Given the description of an element on the screen output the (x, y) to click on. 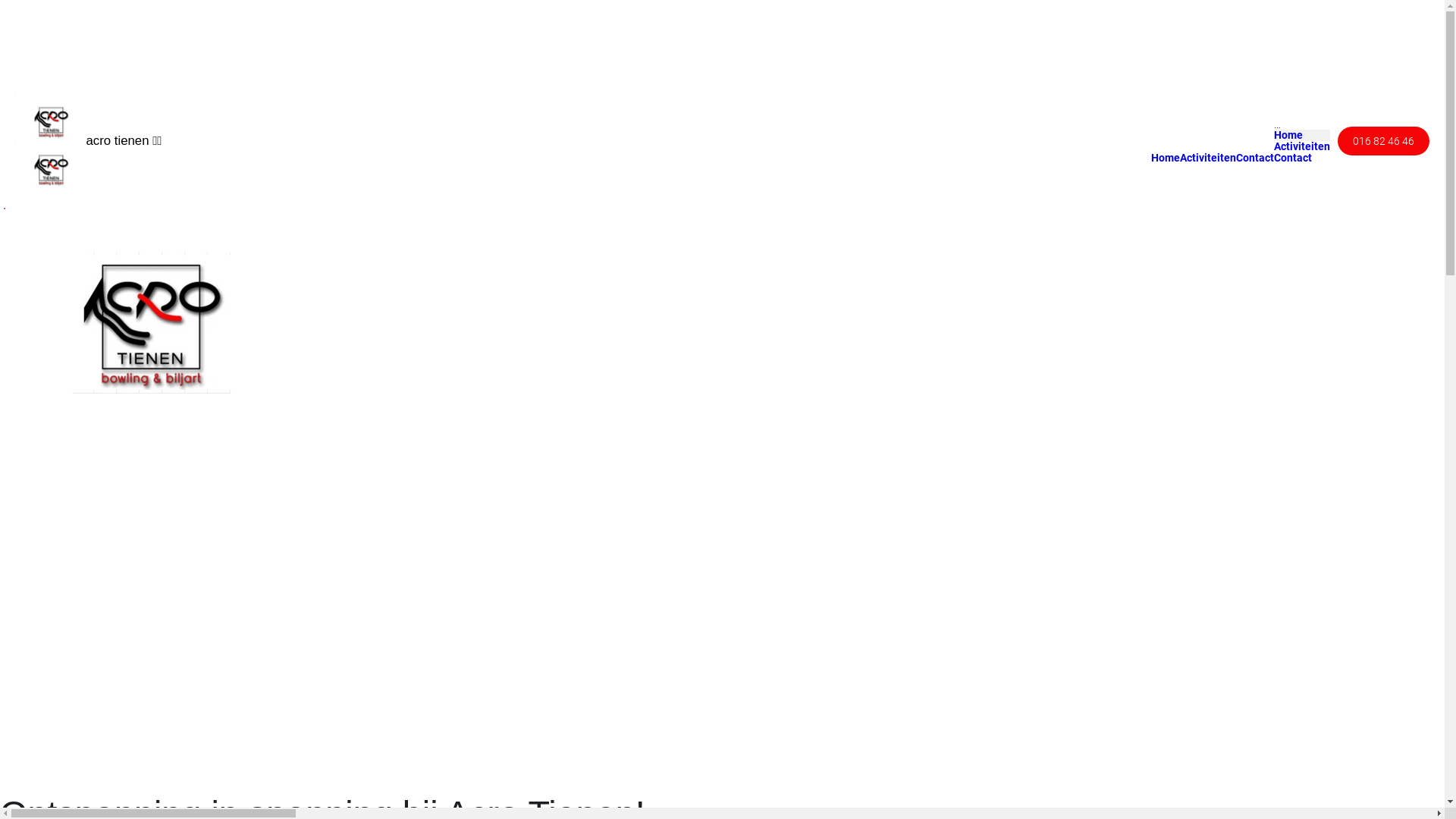
Contact Element type: text (1255, 157)
016 82 46 46 Element type: text (1383, 140)
Activiteiten Element type: text (1207, 157)
Contact Element type: text (1292, 157)
Activiteiten Element type: text (1302, 146)
Home Element type: text (1288, 134)
Home Element type: text (1165, 157)
